Given the description of an element on the screen output the (x, y) to click on. 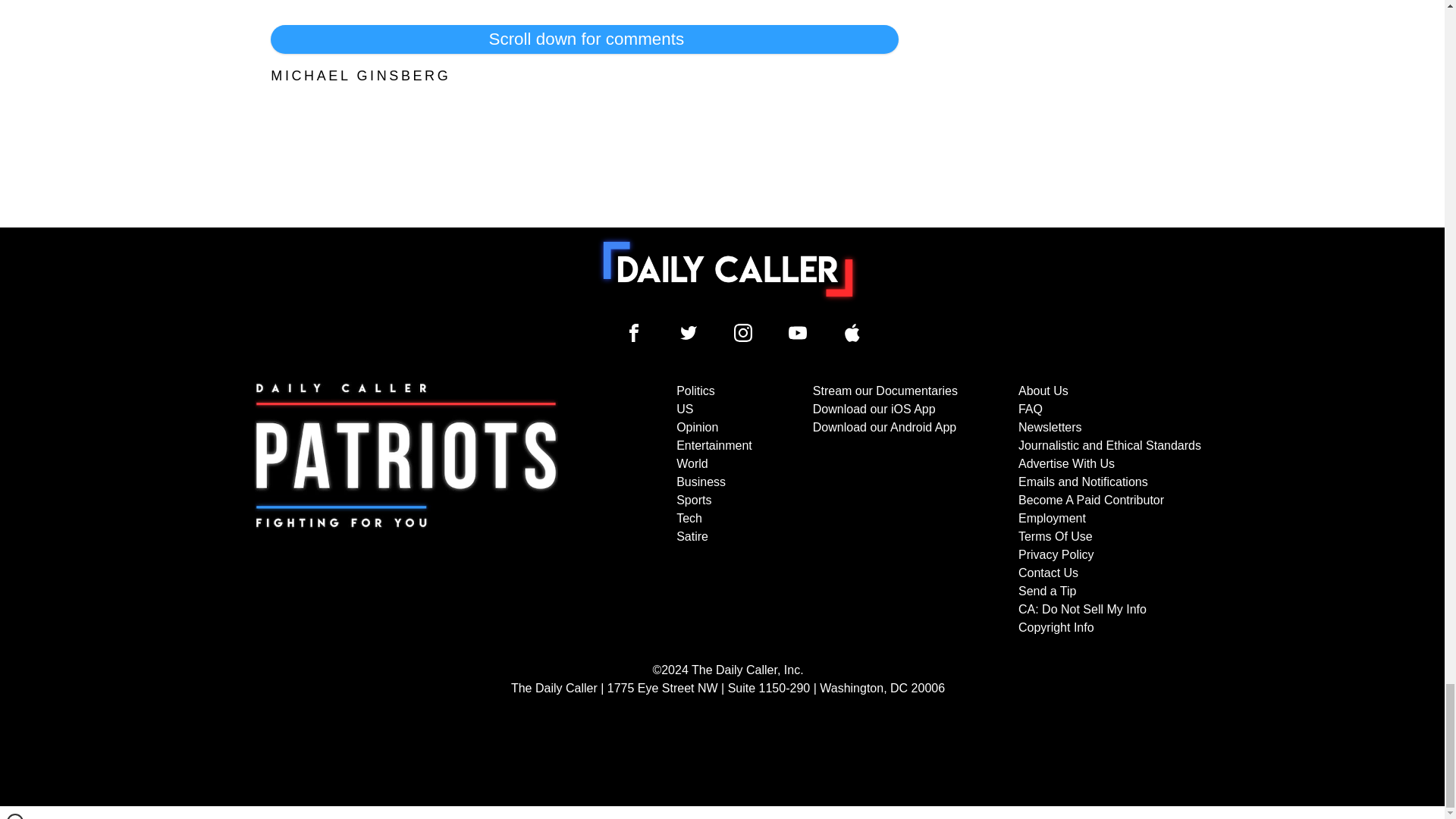
Daily Caller YouTube (852, 332)
Daily Caller Facebook (633, 332)
Daily Caller Instagram (742, 332)
Subscribe to The Daily Caller (405, 509)
To home page (727, 268)
Daily Caller YouTube (797, 332)
Daily Caller Twitter (688, 332)
Scroll down for comments (584, 39)
